Given the description of an element on the screen output the (x, y) to click on. 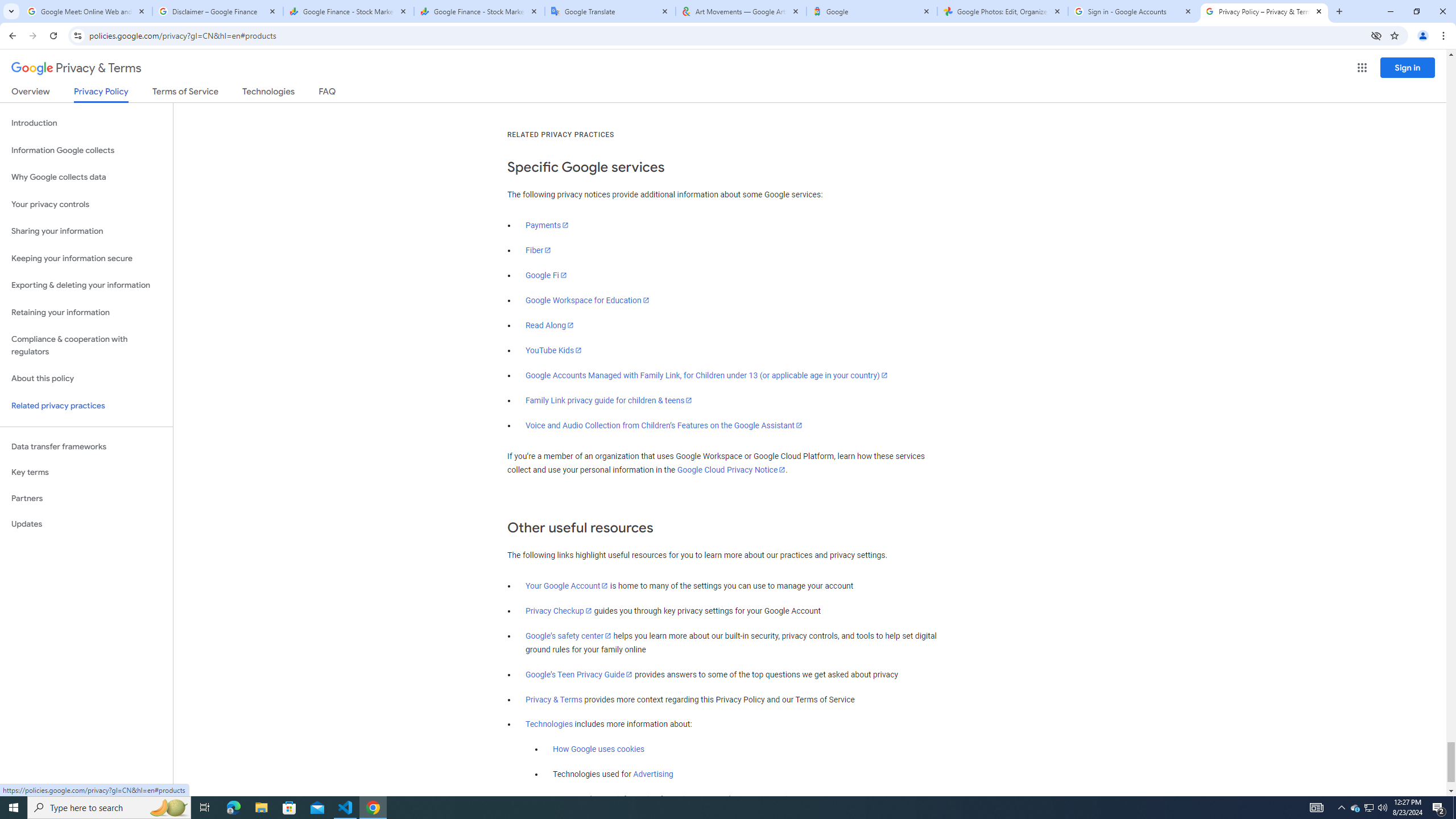
Sharing your information (86, 230)
Google Translate (610, 11)
Read Along (550, 325)
Retaining your information (86, 312)
Keeping your information secure (86, 258)
Google Fi (545, 275)
How Google uses cookies (599, 749)
